Given the description of an element on the screen output the (x, y) to click on. 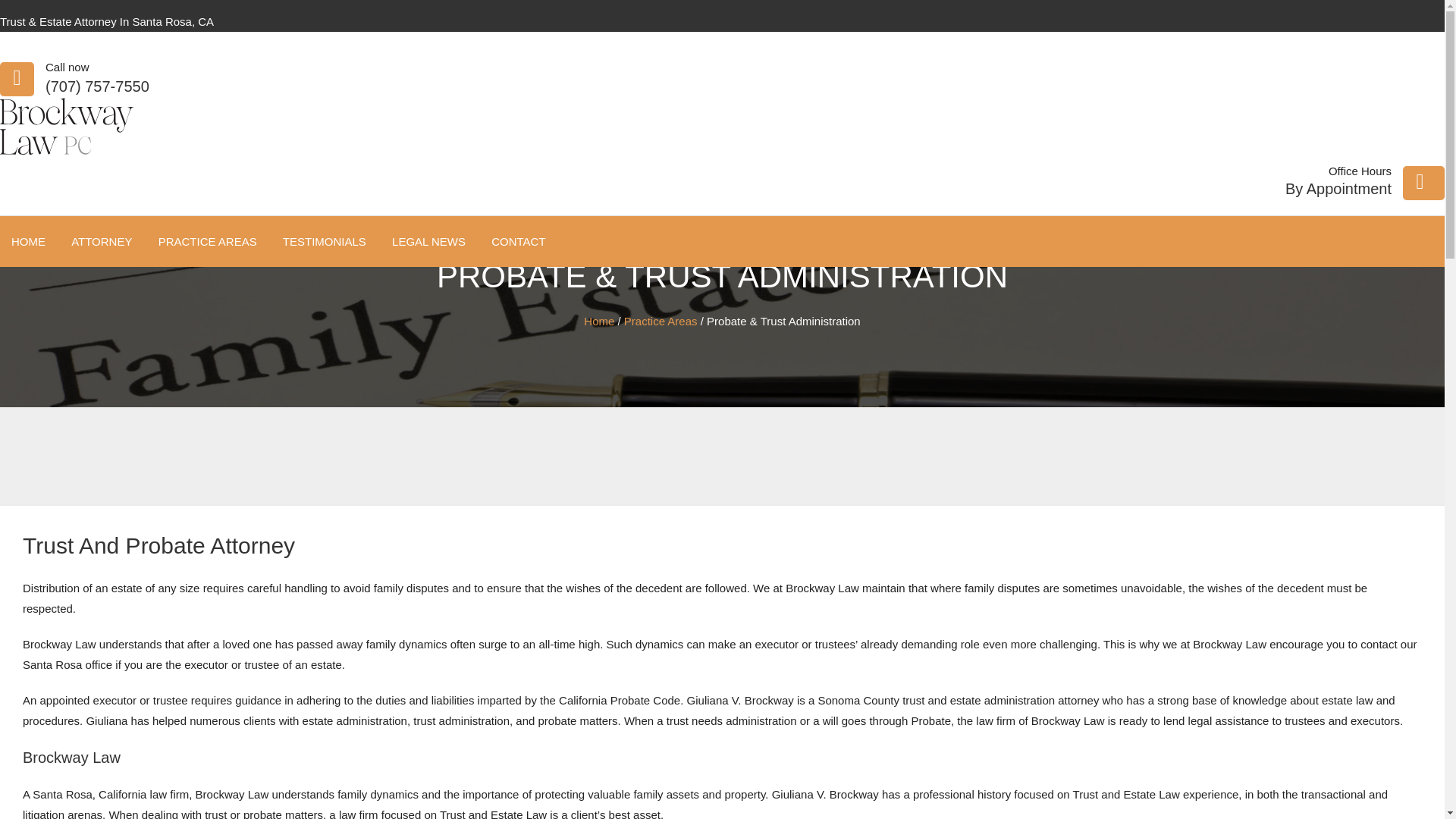
PRACTICE AREAS (207, 241)
TESTIMONIALS (323, 241)
CONTACT (518, 241)
Practice Areas (660, 320)
ATTORNEY (100, 241)
LEGAL NEWS (428, 241)
HOME (28, 241)
Home (598, 320)
